Given the description of an element on the screen output the (x, y) to click on. 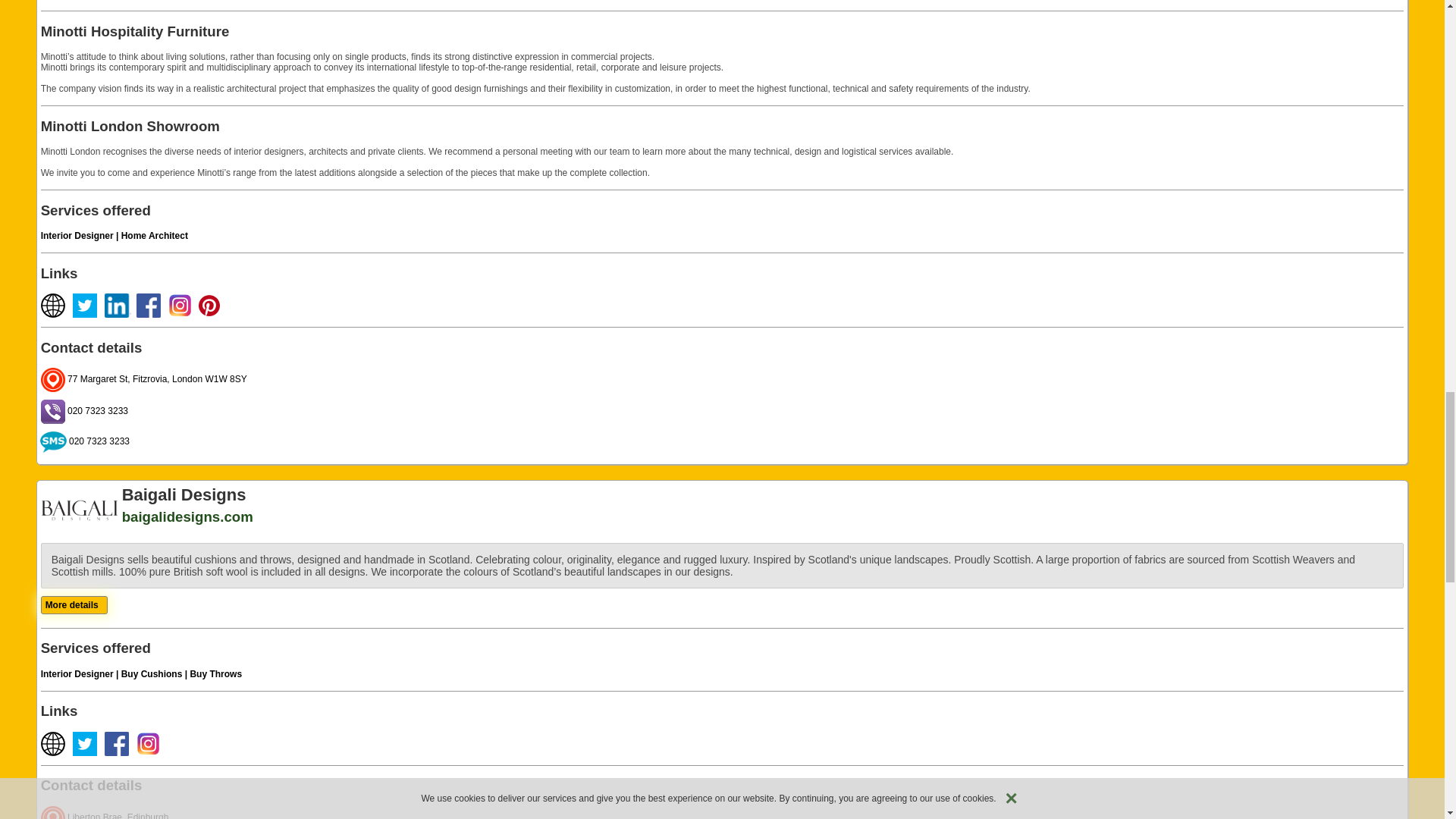
020 7323 3233 (84, 440)
020 7323 3233 (84, 410)
Interior Designer (76, 235)
More details (72, 604)
Buy Cushions (151, 674)
77 Margaret St, Fitzrovia, London W1W 8SY (143, 378)
baigalidesigns.com (187, 516)
